Given the description of an element on the screen output the (x, y) to click on. 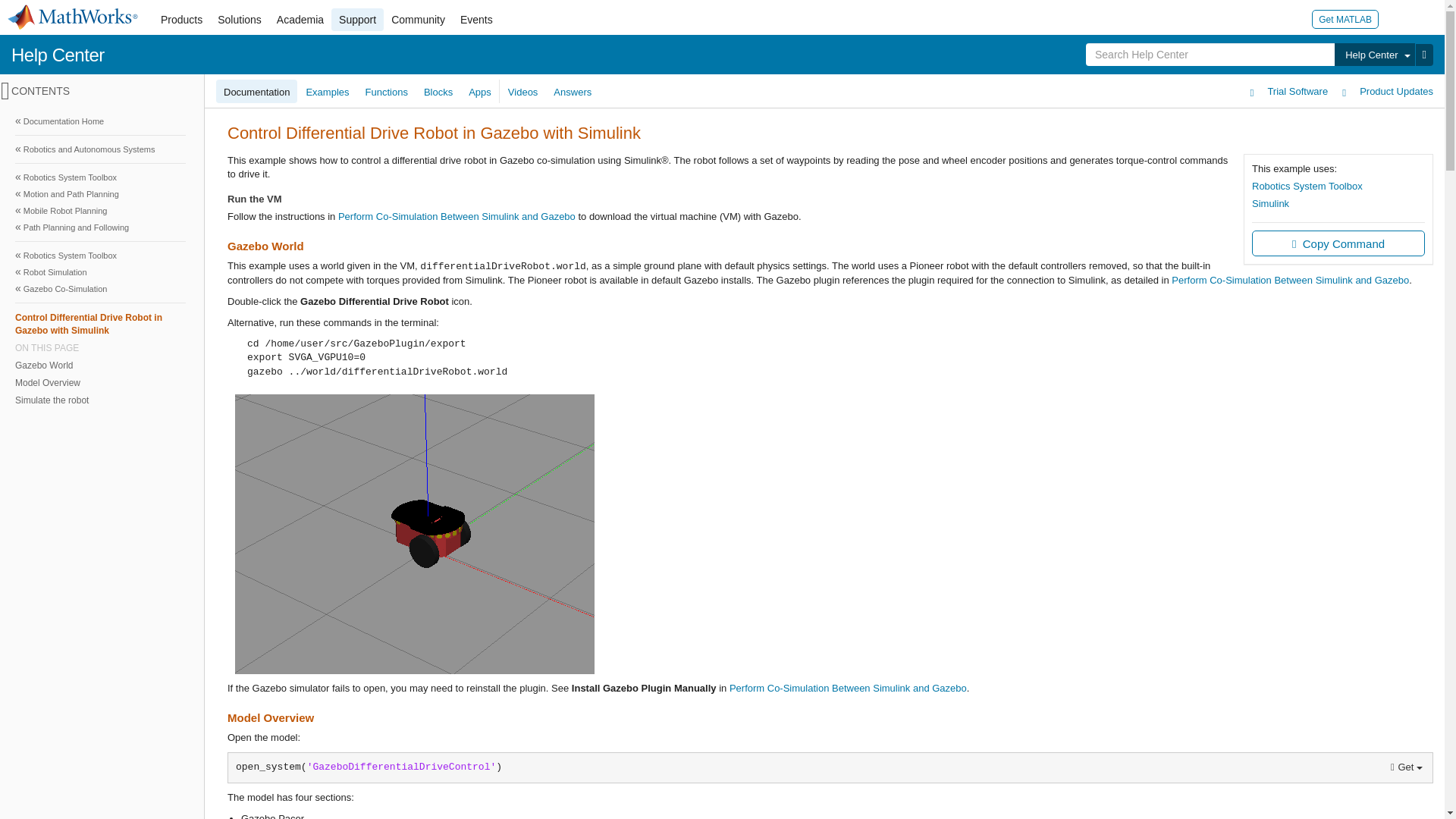
Solutions (239, 19)
Documentation Home (100, 121)
Community (418, 19)
Robotics System Toolbox (100, 255)
Path Planning and Following (100, 227)
Motion and Path Planning (100, 193)
Events (476, 19)
ON THIS PAGE (100, 347)
Mobile Robot Planning (100, 210)
